Given the description of an element on the screen output the (x, y) to click on. 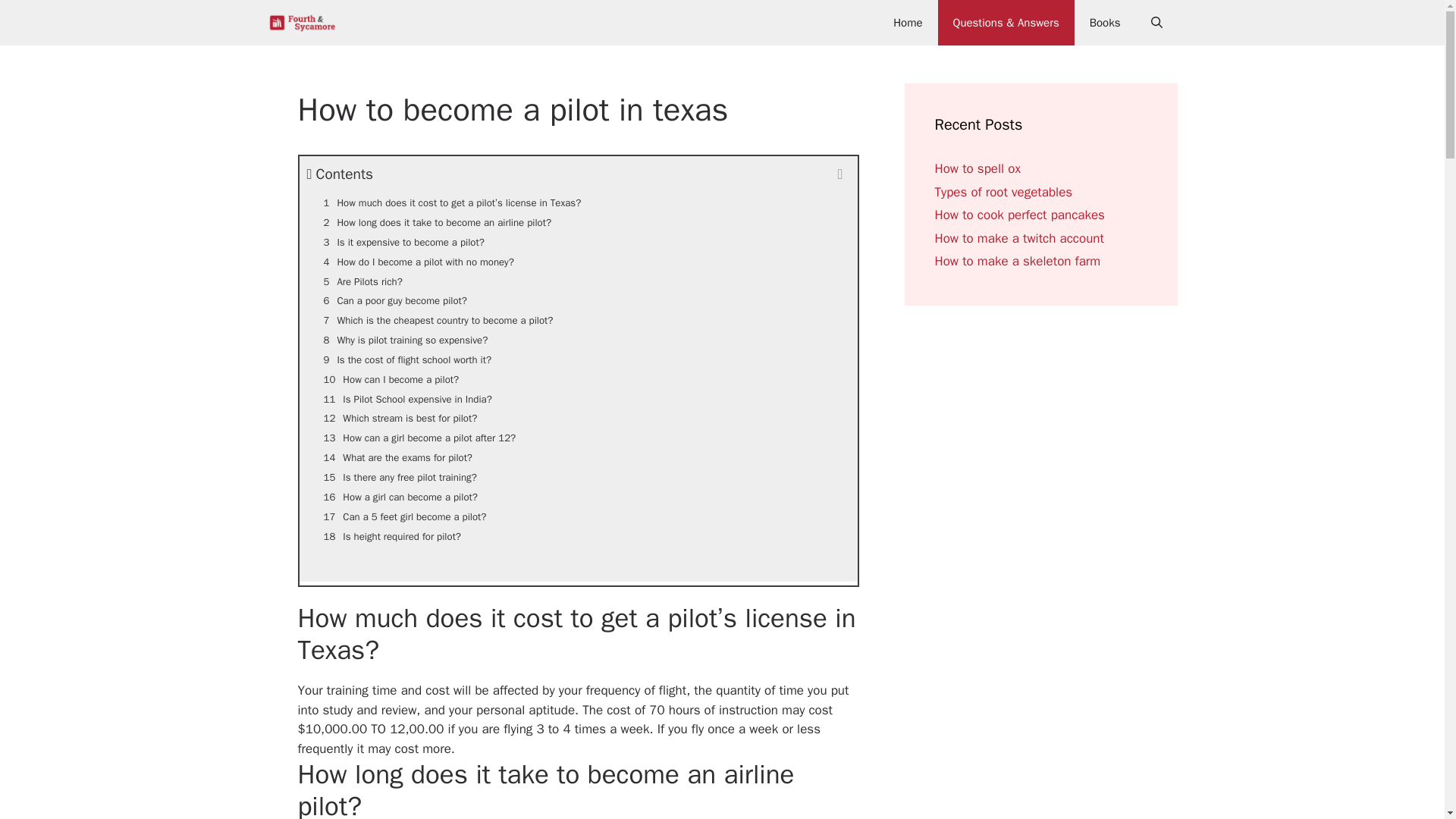
Is it expensive to become a pilot? (577, 242)
Home (907, 22)
Books (1104, 22)
Is there any free pilot training? (577, 477)
Are Pilots rich? (577, 281)
Can a 5 feet girl become a pilot? (577, 516)
How can a girl become a pilot after 12? (577, 437)
Which is the cheapest country to become a pilot? (577, 320)
What are the exams for pilot? (577, 457)
Is height required for pilot? (577, 537)
